Given the description of an element on the screen output the (x, y) to click on. 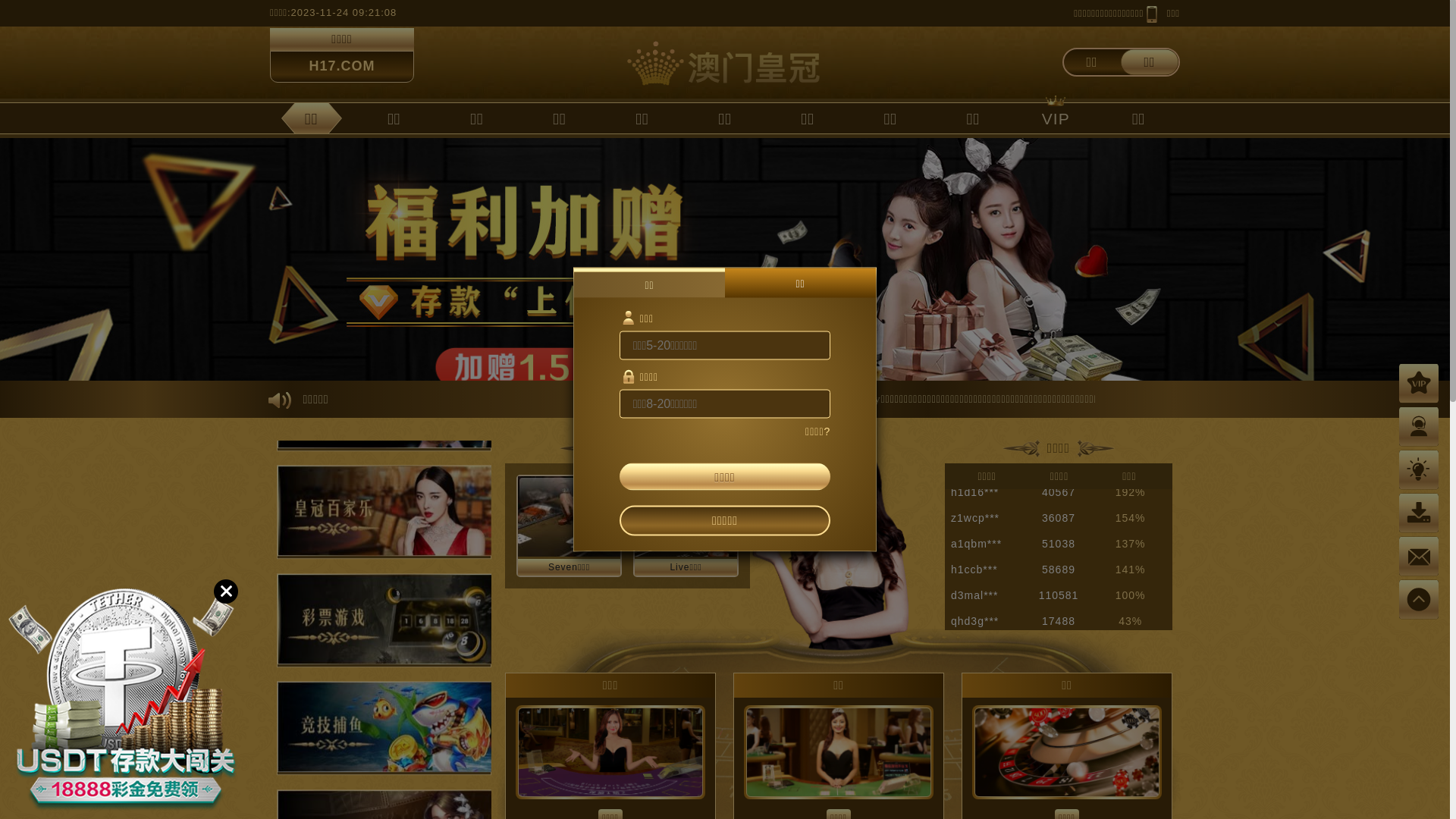
VIP Element type: text (1055, 118)
